Given the description of an element on the screen output the (x, y) to click on. 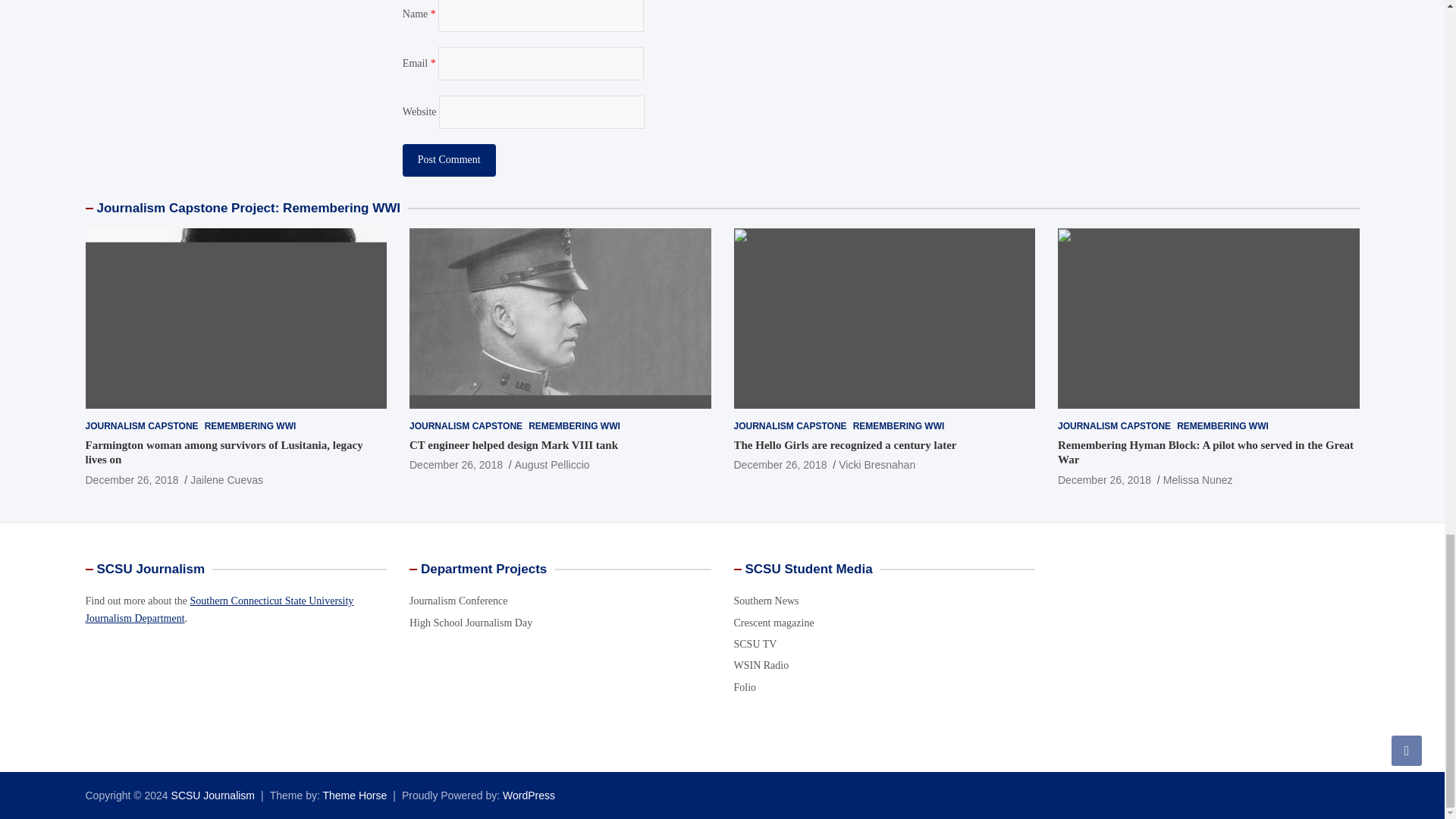
Post Comment (449, 160)
Remembering Hyman Block: A pilot who served in the Great War (1104, 480)
The Hello Girls are recognized a century later (780, 464)
Theme Horse (354, 795)
CT engineer helped design Mark VIII tank (455, 464)
WordPress (528, 795)
SCSU Journalism (212, 795)
